Given the description of an element on the screen output the (x, y) to click on. 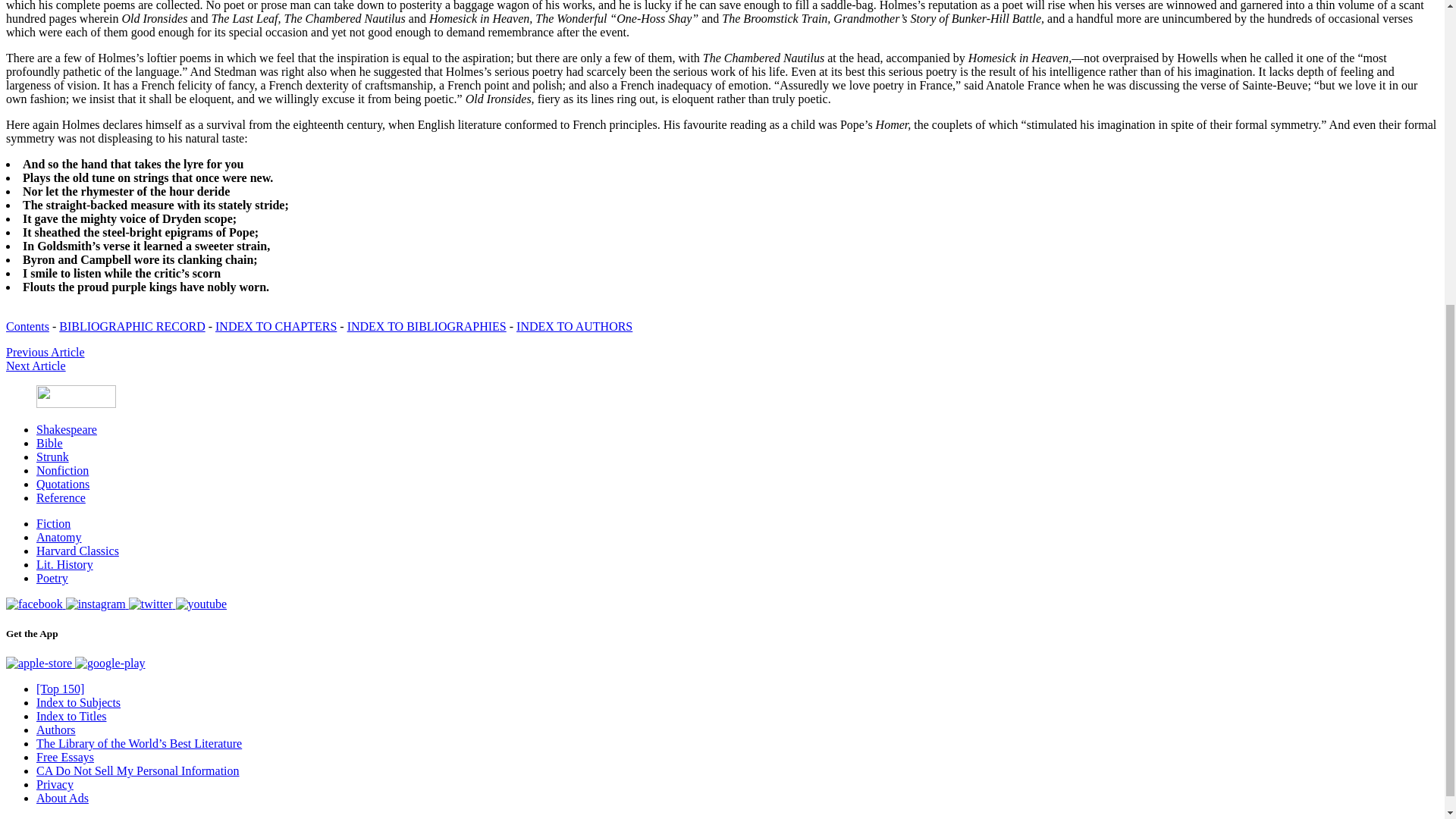
Contents (27, 326)
Previous Article (44, 351)
INDEX TO AUTHORS (573, 326)
Bible (49, 442)
Shakespeare (66, 429)
Anatomy (58, 536)
Fiction (52, 522)
INDEX TO BIBLIOGRAPHIES (426, 326)
Nonfiction (62, 470)
INDEX TO CHAPTERS (275, 326)
Next Article (35, 365)
BIBLIOGRAPHIC RECORD (132, 326)
Strunk (52, 456)
Quotations (62, 483)
Reference (60, 497)
